Given the description of an element on the screen output the (x, y) to click on. 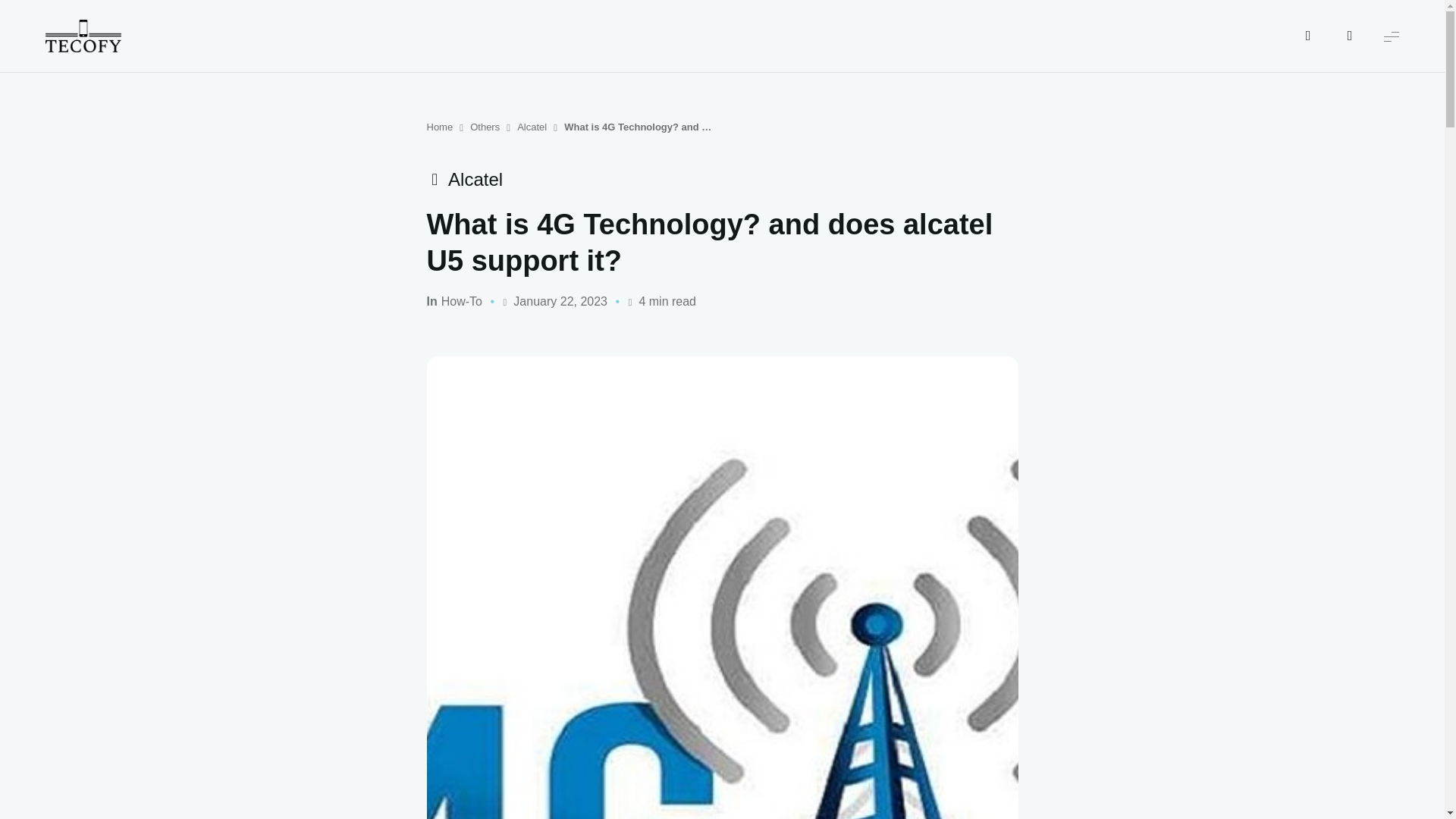
How-To (461, 301)
Alcatel (464, 179)
Others (484, 127)
Alcatel (464, 179)
Home (439, 127)
How-To (461, 301)
Alcatel (531, 127)
